Given the description of an element on the screen output the (x, y) to click on. 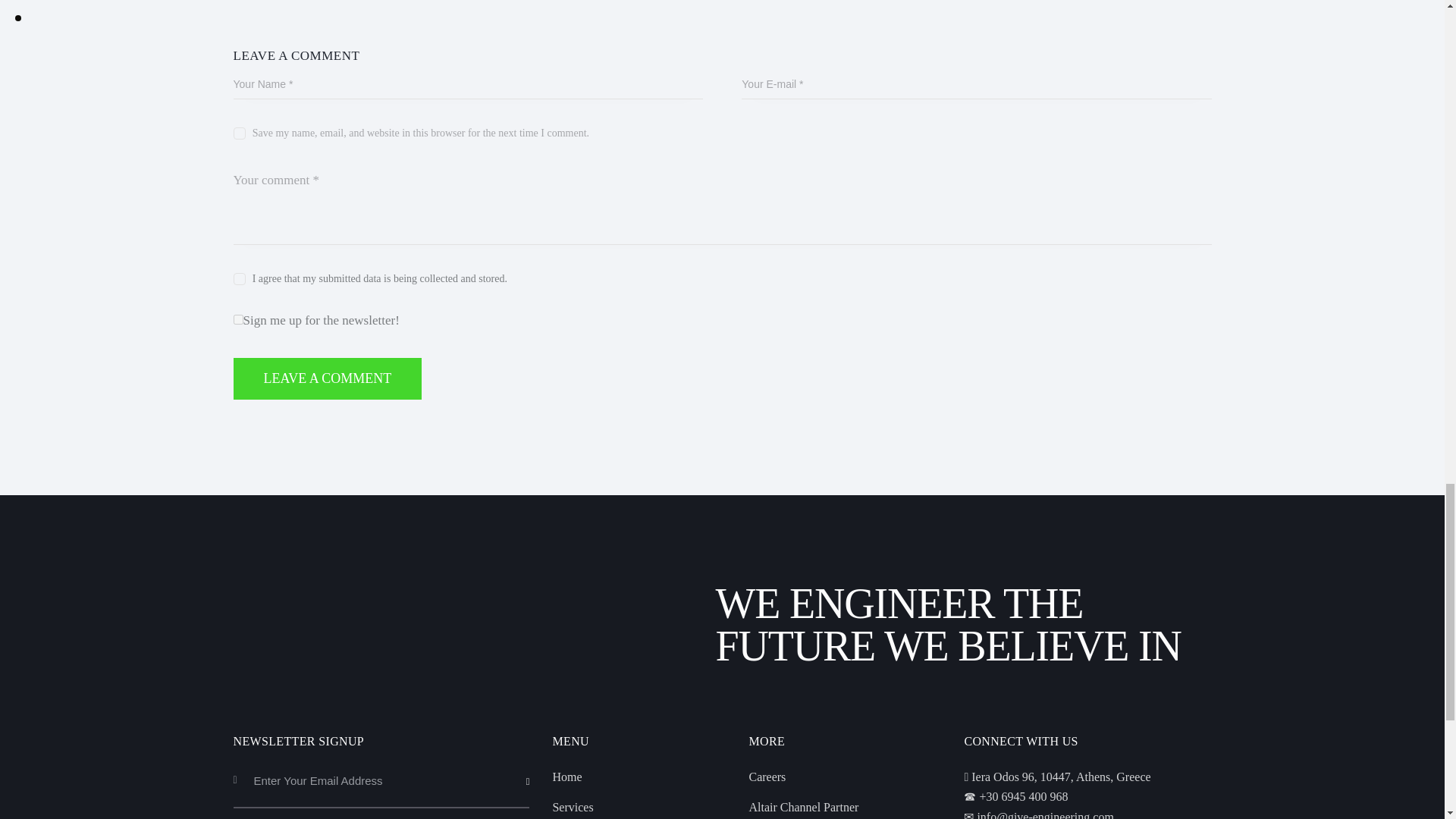
yes (237, 130)
1 (533, 759)
Leave a comment (327, 378)
Leave a comment (327, 378)
1 (237, 319)
